Given the description of an element on the screen output the (x, y) to click on. 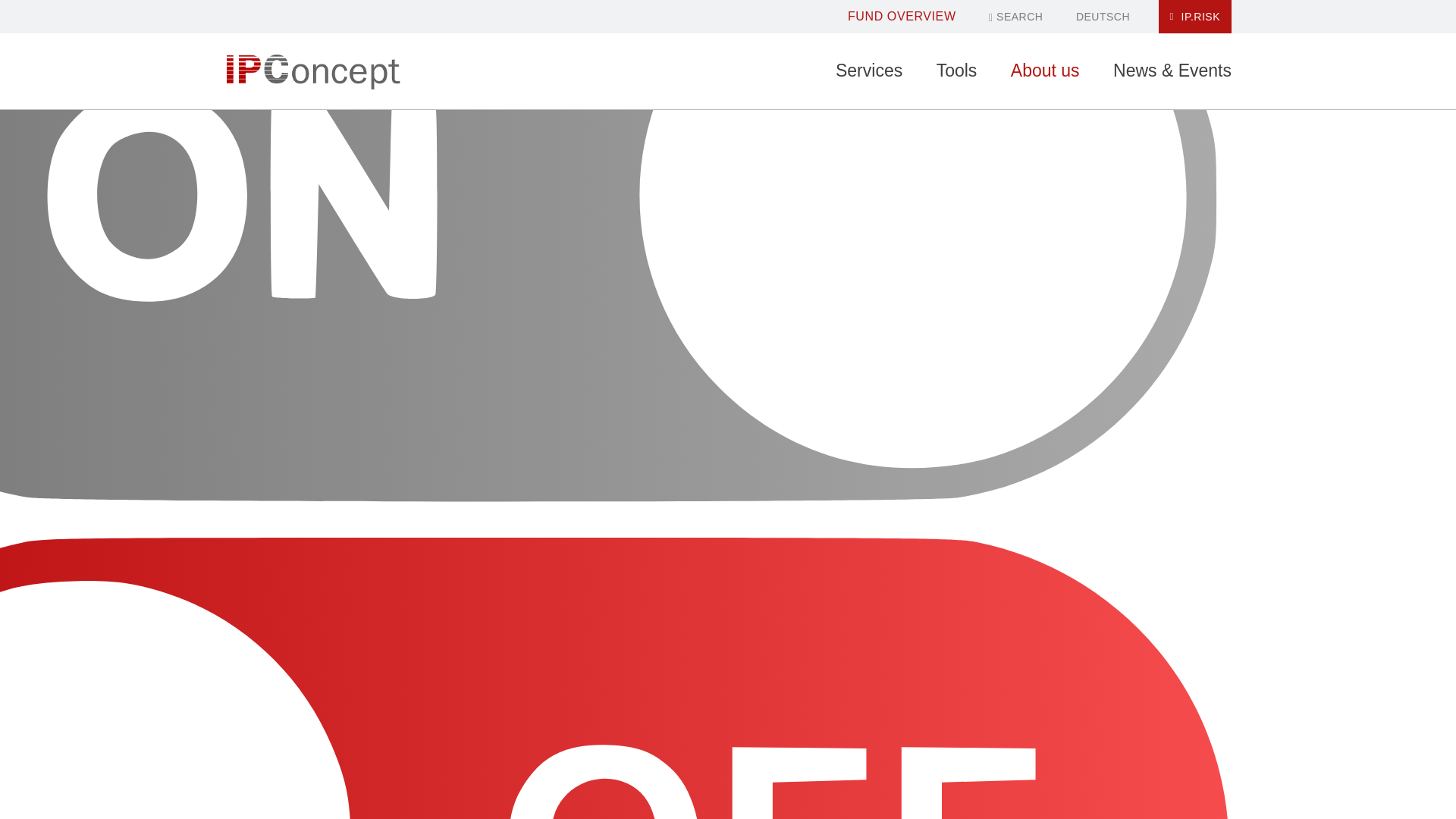
Change language (1102, 16)
About us (1045, 70)
Logo (312, 71)
Weiterleitung zum Login-Bereich (1194, 16)
SEARCH (1015, 17)
IP.RISK (1194, 16)
About us (1045, 70)
FUND OVERVIEW (901, 15)
DEUTSCH (1102, 16)
Fund Overview (901, 15)
